Given the description of an element on the screen output the (x, y) to click on. 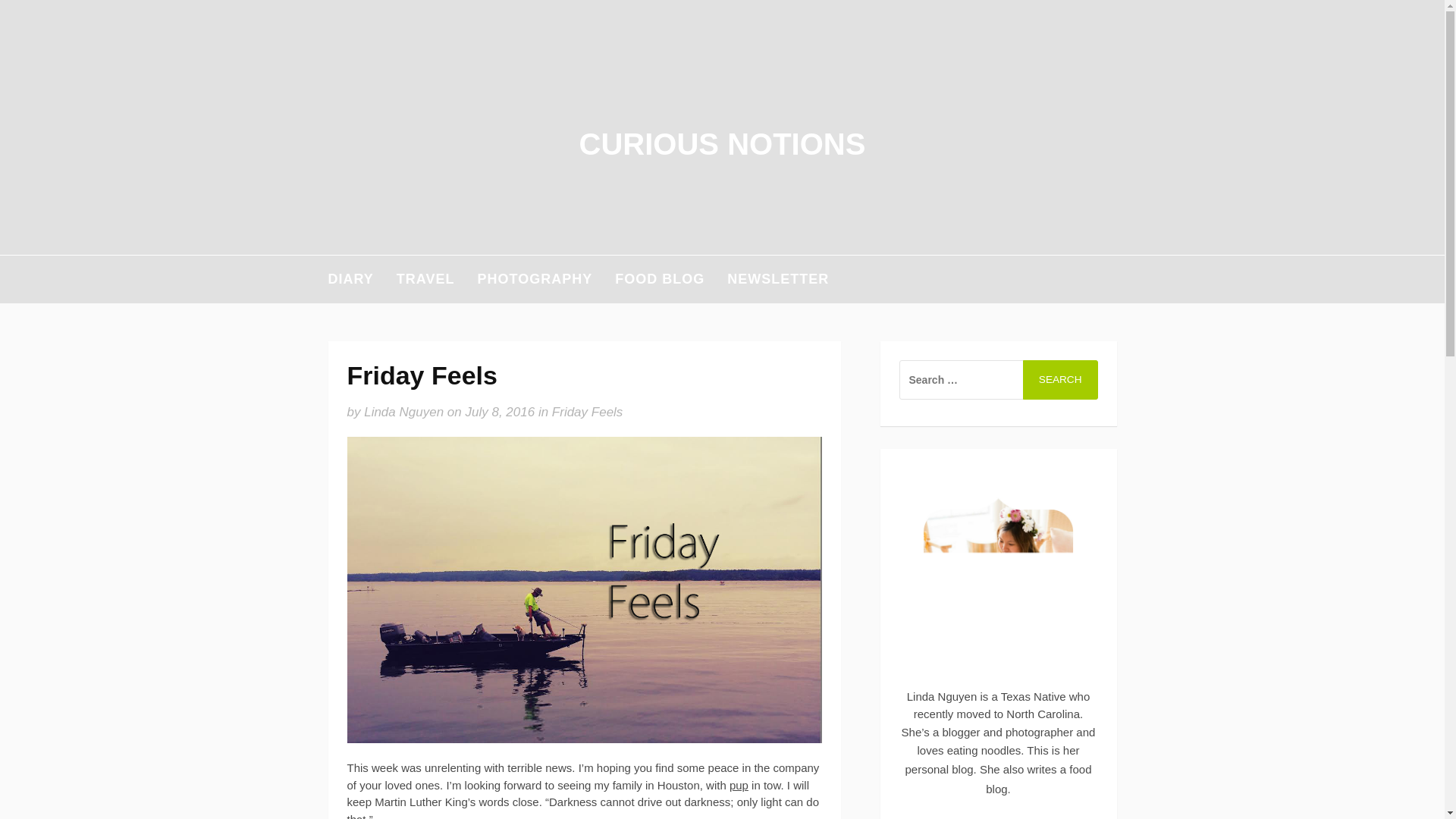
Linda Nguyen (404, 411)
Search (1060, 379)
TRAVEL (425, 279)
pup (738, 784)
July 8, 2016 (499, 411)
FOOD BLOG (659, 279)
Friday Feels (587, 411)
Search (1060, 379)
DIARY (349, 279)
PHOTOGRAPHY (534, 279)
